Given the description of an element on the screen output the (x, y) to click on. 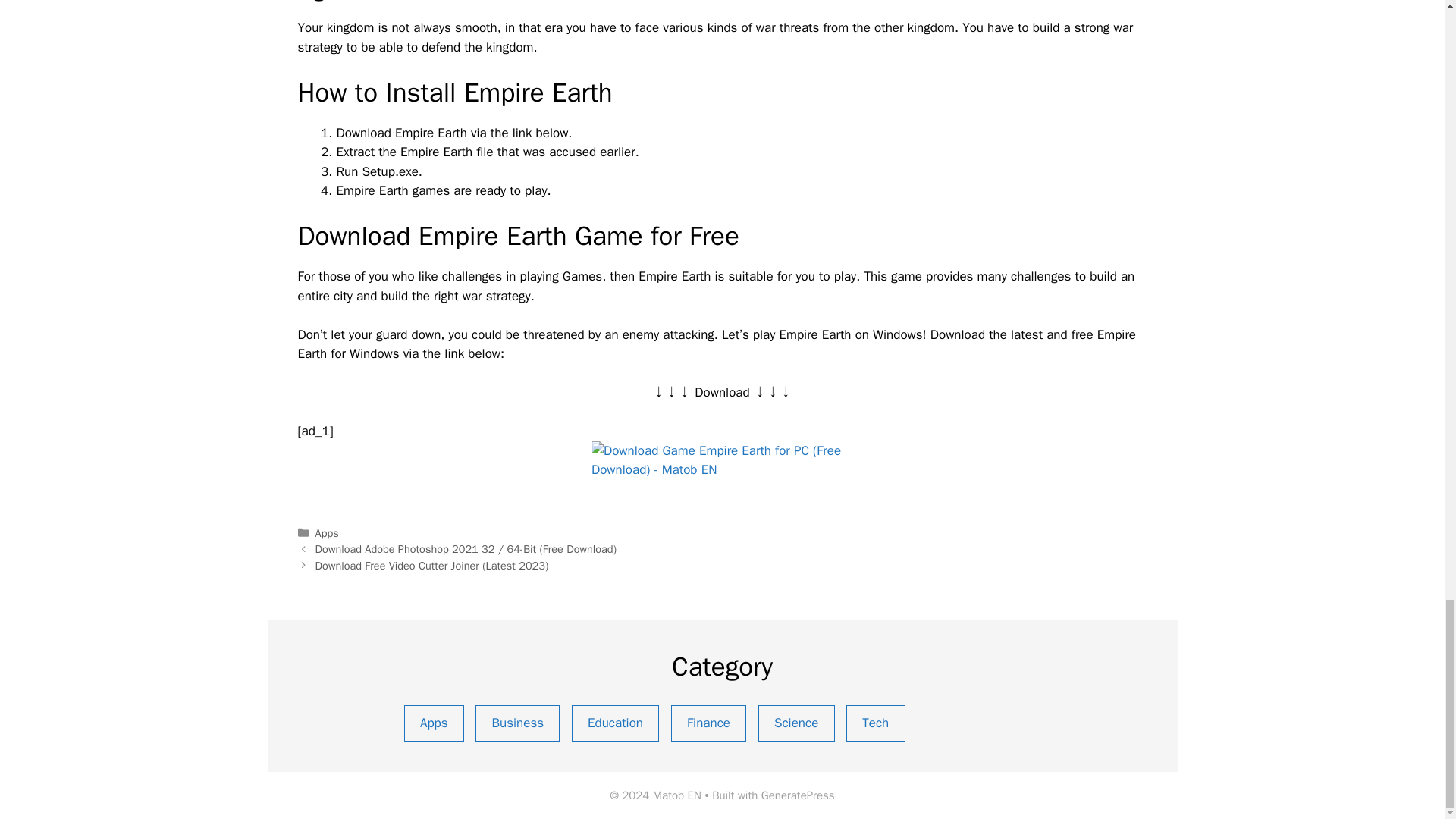
Education (615, 723)
Apps (433, 723)
Business (517, 723)
Finance (708, 723)
Tech (875, 723)
Science (796, 723)
Apps (327, 532)
GeneratePress (797, 795)
